Given the description of an element on the screen output the (x, y) to click on. 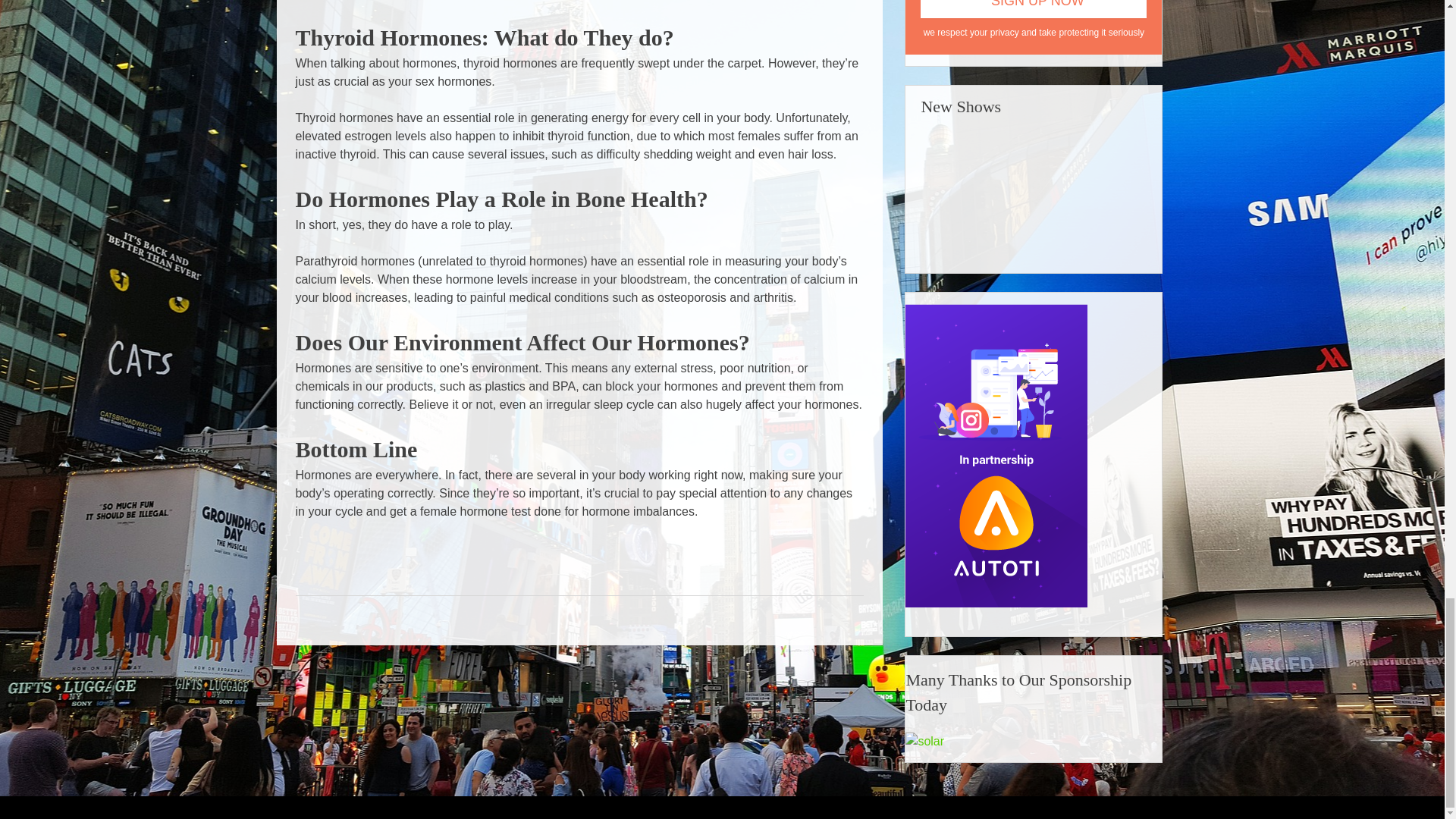
Sign Up Now (1033, 9)
Sign Up Now (1033, 9)
